Given the description of an element on the screen output the (x, y) to click on. 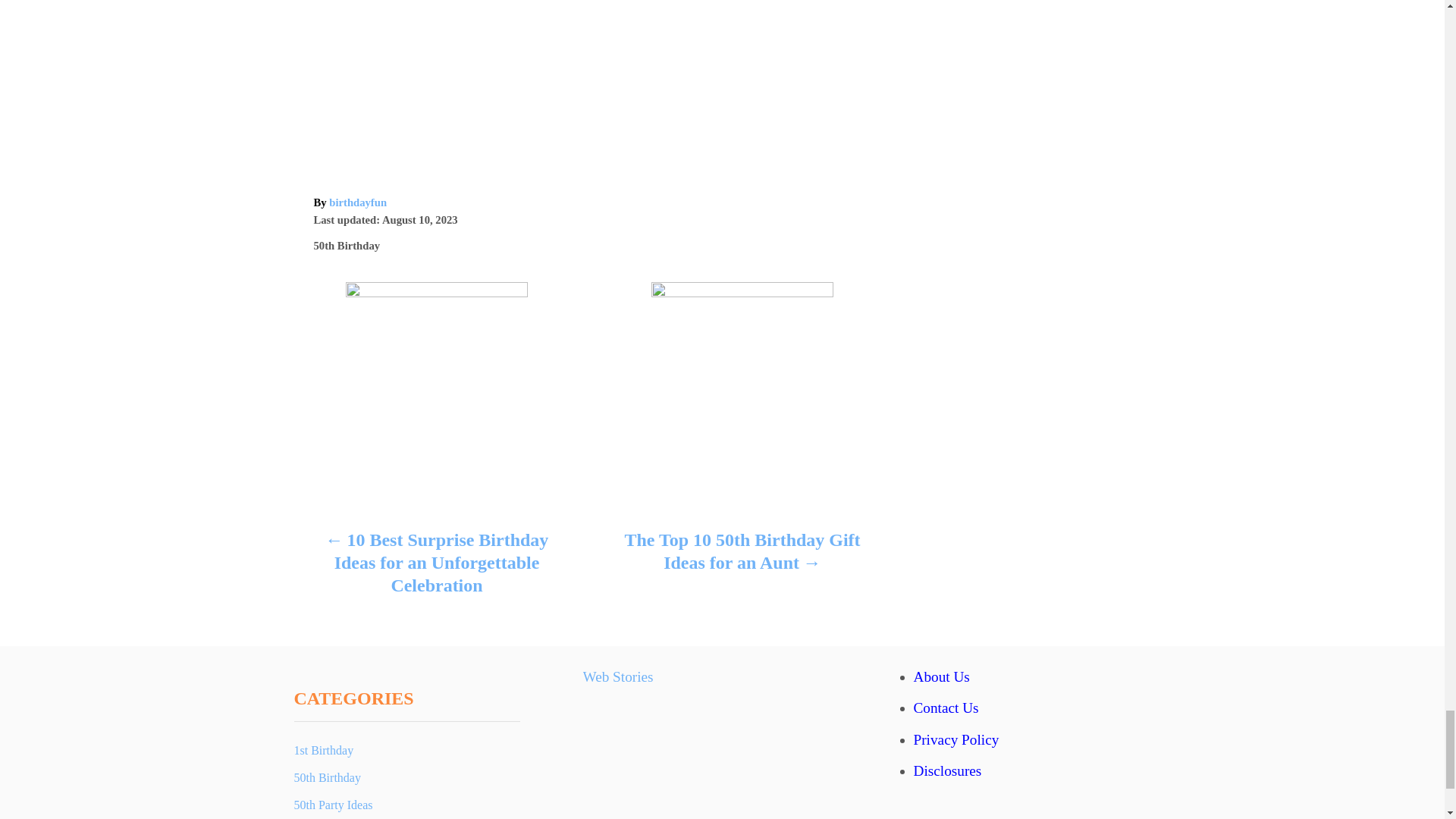
1st Birthday (406, 750)
50th Birthday (347, 245)
birthdayfun (358, 202)
The Top 10 50th Birthday Gift Ideas for an Aunt (741, 554)
